Given the description of an element on the screen output the (x, y) to click on. 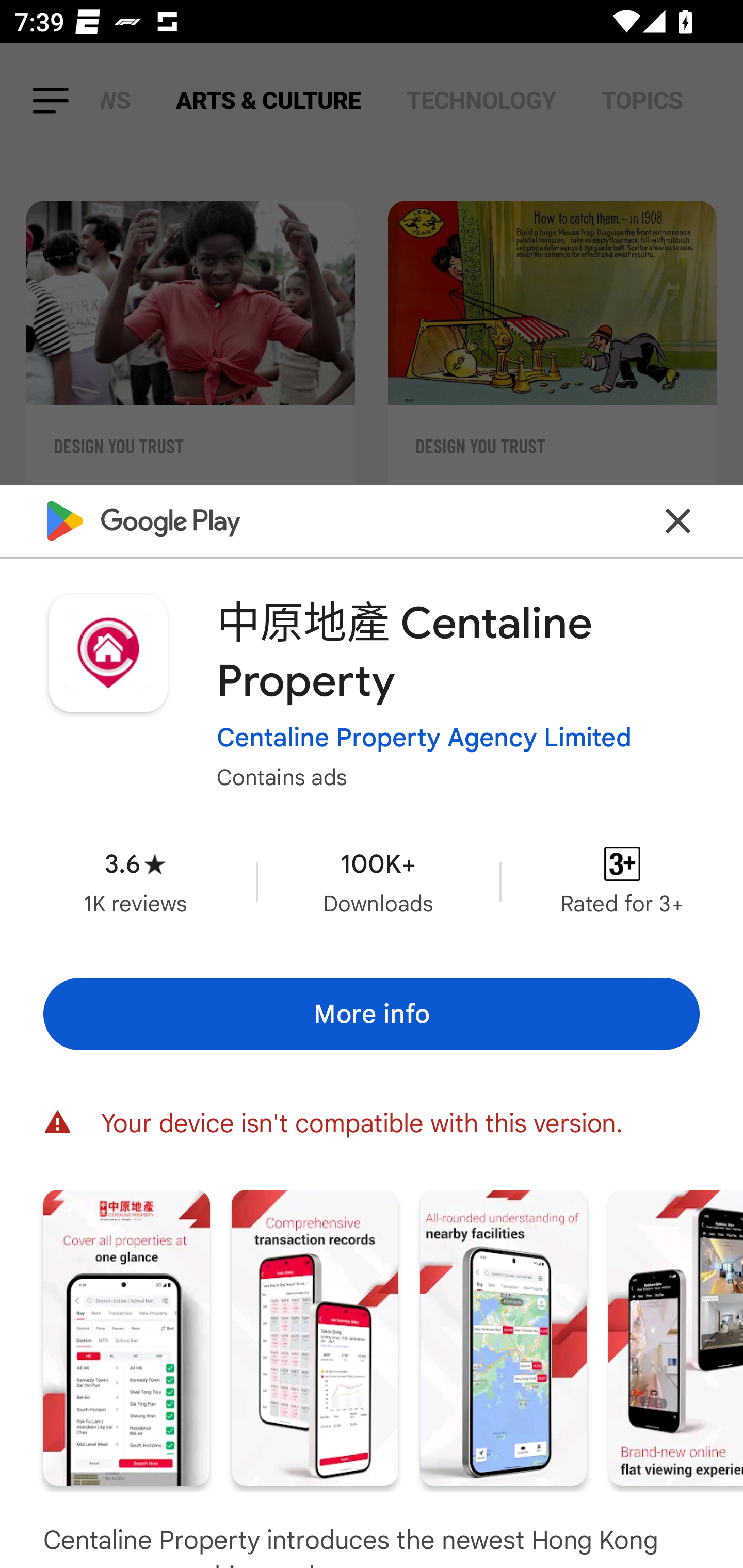
Close (677, 520)
Centaline Property Agency Limited (423, 737)
More info (371, 1014)
Screenshot "1" of "8" (126, 1338)
Screenshot "2" of "8" (314, 1338)
Screenshot "3" of "8" (502, 1338)
Screenshot "4" of "8" (675, 1338)
